Given the description of an element on the screen output the (x, y) to click on. 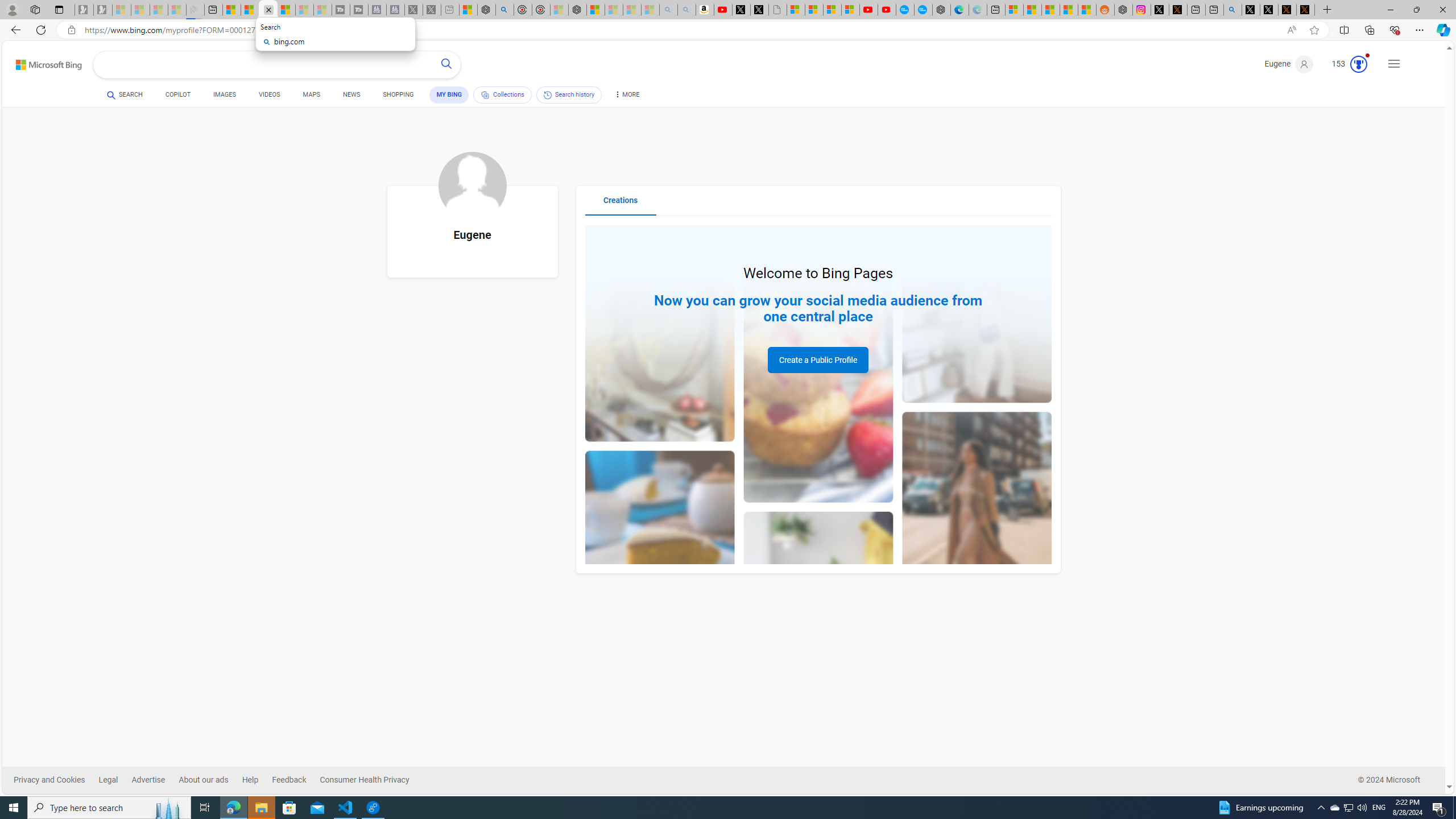
Microsoft Start - Sleeping (304, 9)
